Given the description of an element on the screen output the (x, y) to click on. 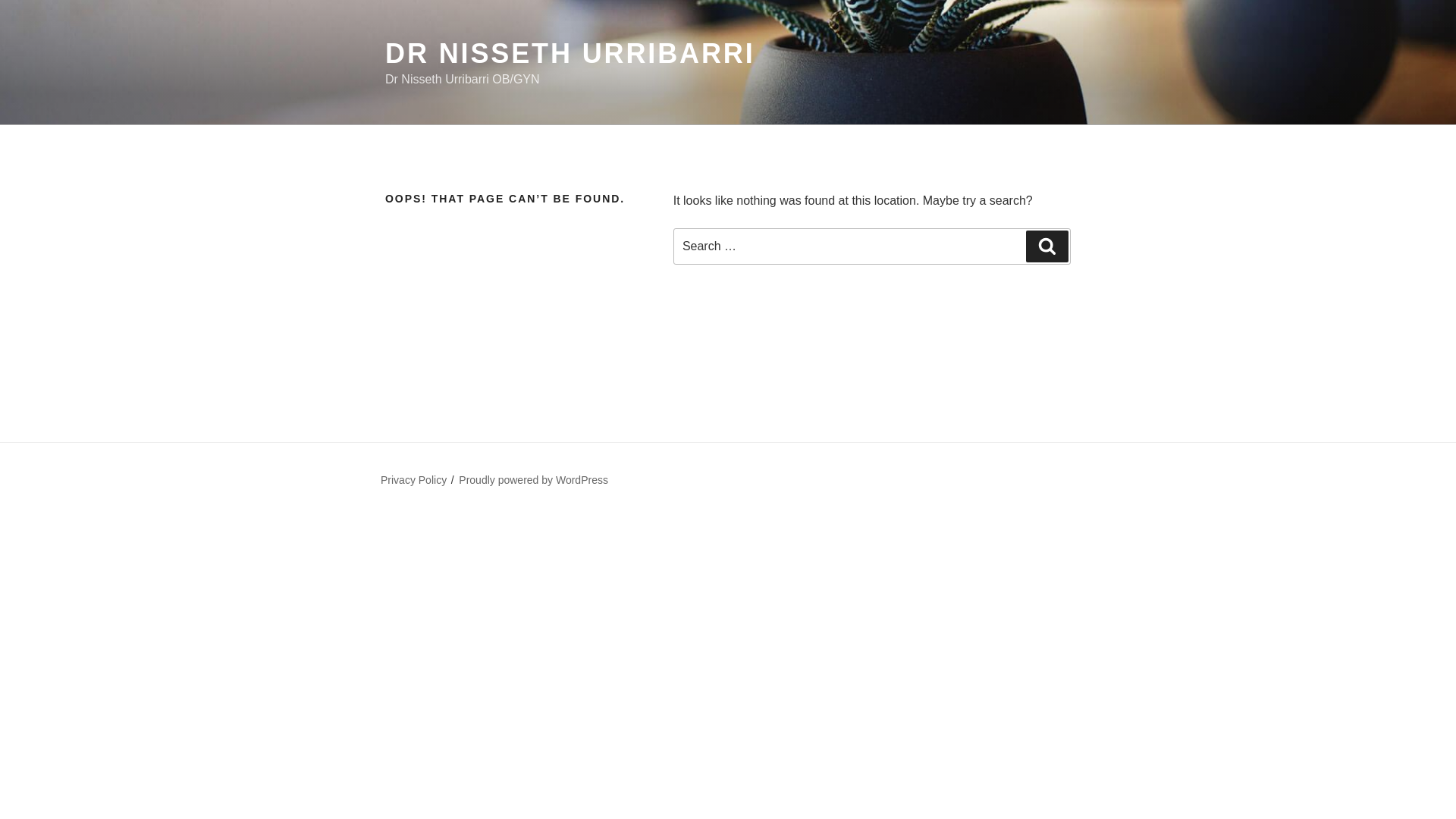
Search (1047, 246)
Privacy Policy (413, 480)
DR NISSETH URRIBARRI (570, 52)
Proudly powered by WordPress (533, 480)
